Given the description of an element on the screen output the (x, y) to click on. 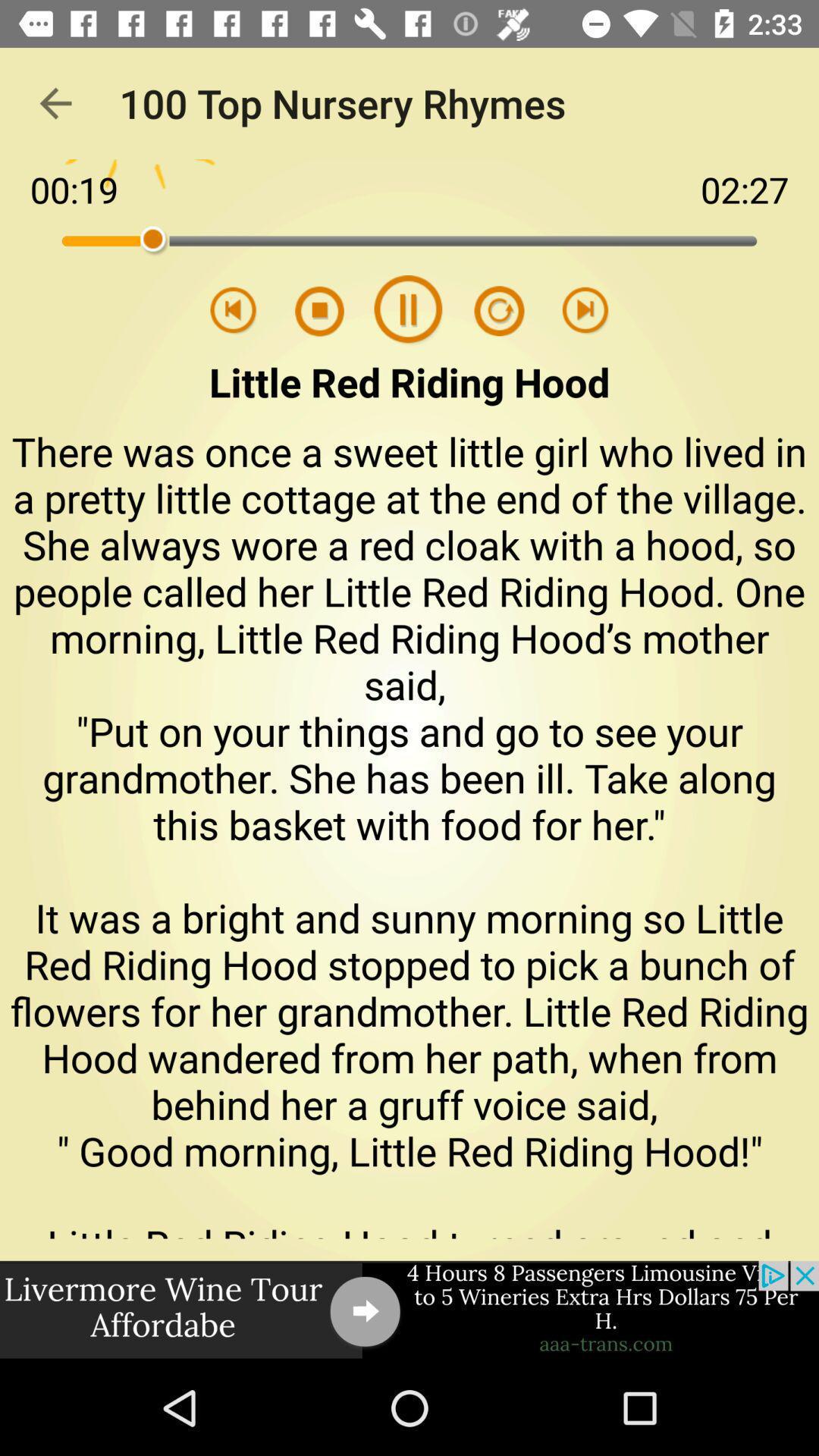
switch the pass (329, 310)
